Given the description of an element on the screen output the (x, y) to click on. 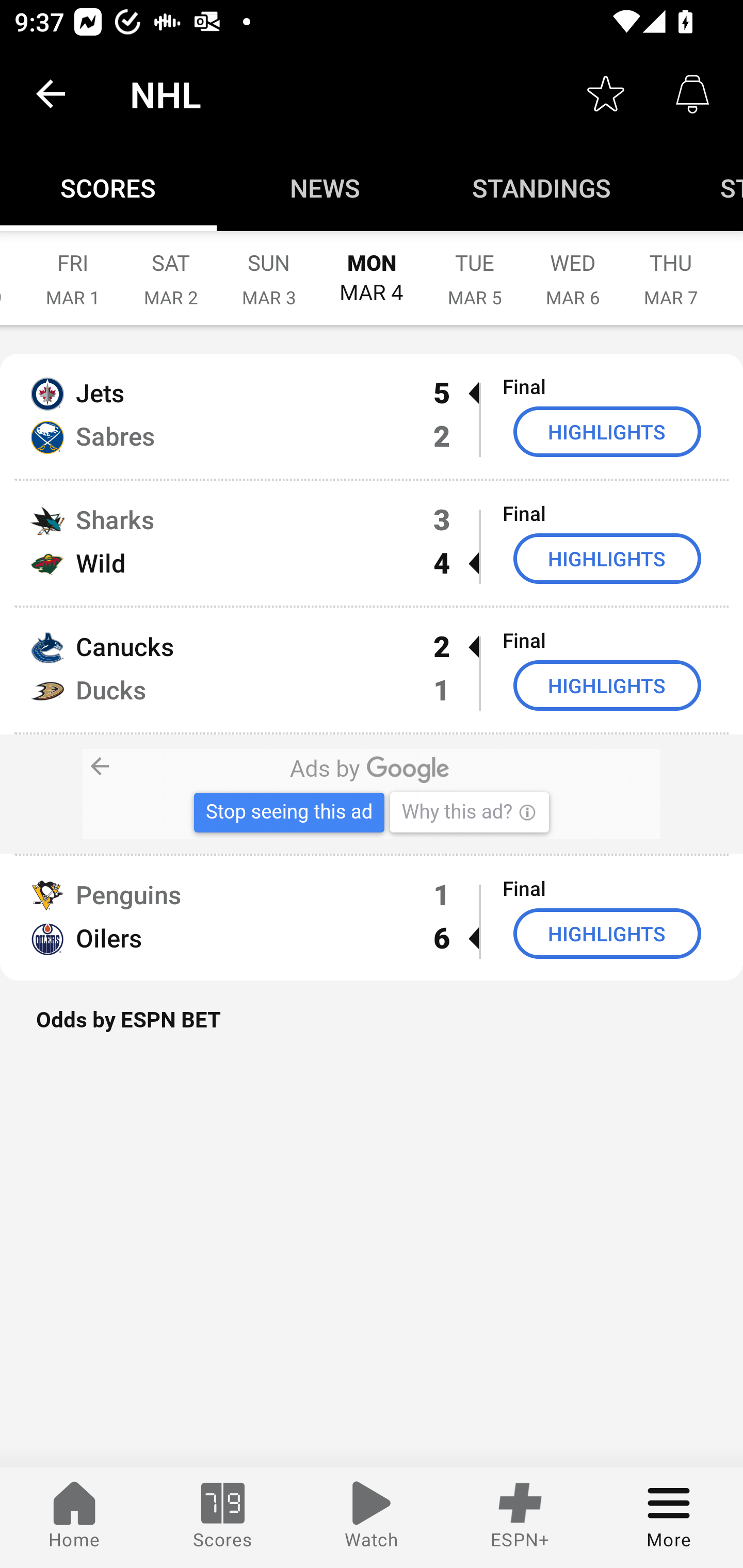
back.button (50, 93)
Favorite toggle (605, 93)
Alerts (692, 93)
News NEWS (324, 187)
Standings STANDINGS (541, 187)
FRI MAR 1 (72, 268)
SAT MAR 2 (170, 268)
SUN MAR 3 (268, 268)
MON MAR 4 (371, 267)
TUE MAR 5 (474, 268)
WED MAR 6 (572, 268)
THU MAR 7 (670, 268)
Jets 5  Final Sabres 2 HIGHLIGHTS (371, 416)
HIGHLIGHTS (607, 431)
Sharks 3 Final Wild 4  HIGHLIGHTS (371, 543)
HIGHLIGHTS (607, 558)
Canucks 2  Final Ducks 1 HIGHLIGHTS (371, 670)
HIGHLIGHTS (607, 685)
Penguins 1 Final Oilers 6  HIGHLIGHTS (371, 918)
HIGHLIGHTS (607, 933)
Odds by ESPN BET (371, 1030)
Home (74, 1517)
Scores (222, 1517)
Watch (371, 1517)
ESPN+ (519, 1517)
